Given the description of an element on the screen output the (x, y) to click on. 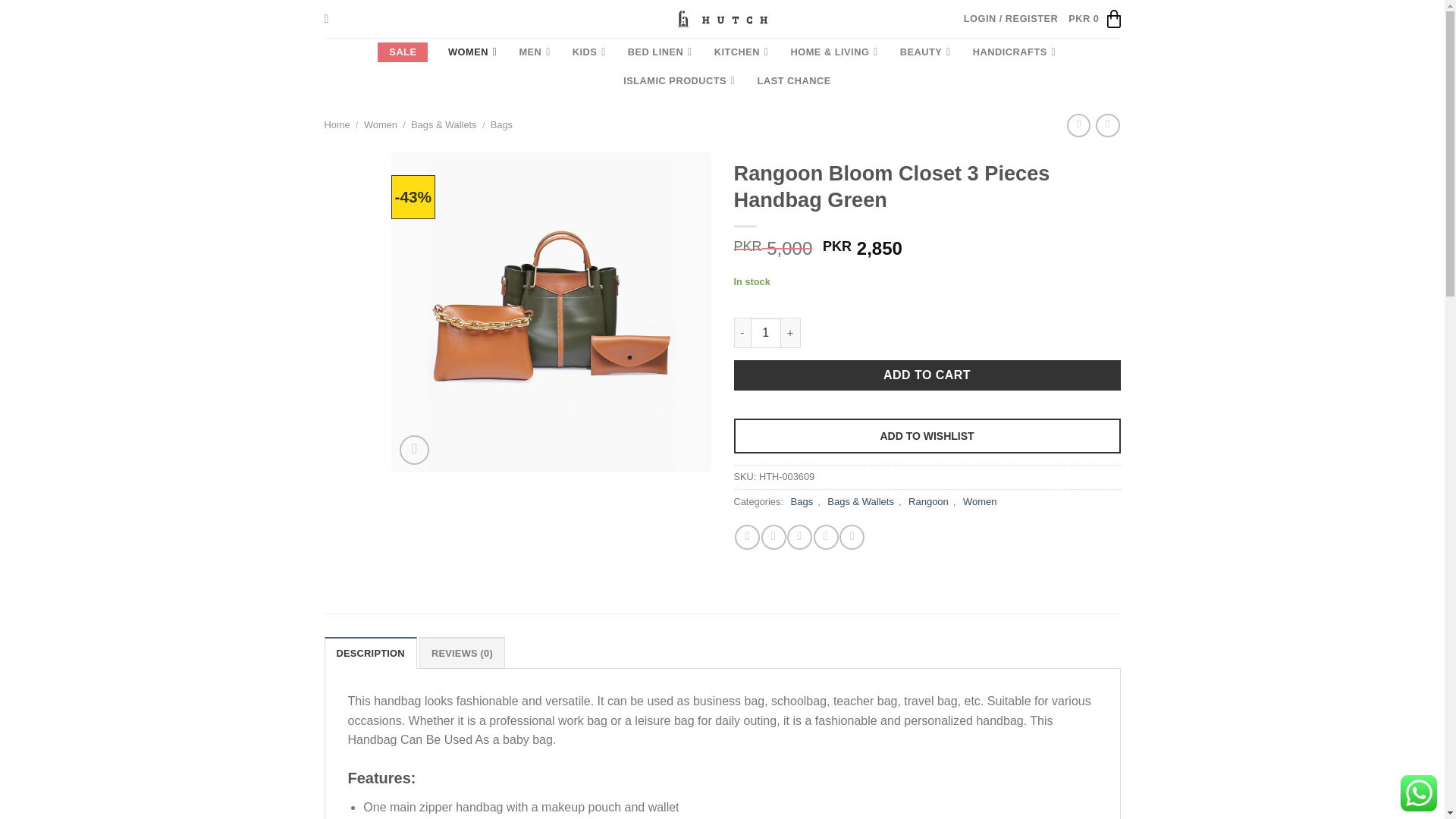
Cart (1093, 19)
Hutch.pk Online Fashion Store in Pakistan (722, 18)
Qty (765, 332)
Rangoon Bloom Closet 3 Pieces Handbag Green 03 (1190, 312)
PKR 0 (1093, 19)
Share on Twitter (773, 536)
Email to a Friend (799, 536)
WOMEN (473, 51)
1 (765, 332)
Share on Facebook (747, 536)
Rangoon Bloom Closet 3 Pieces Handbag Green 02 (870, 312)
SALE (402, 52)
Zoom (413, 449)
Rangoon Bloom Closet 3 Pieces Handbag Green 01 (551, 312)
